Given the description of an element on the screen output the (x, y) to click on. 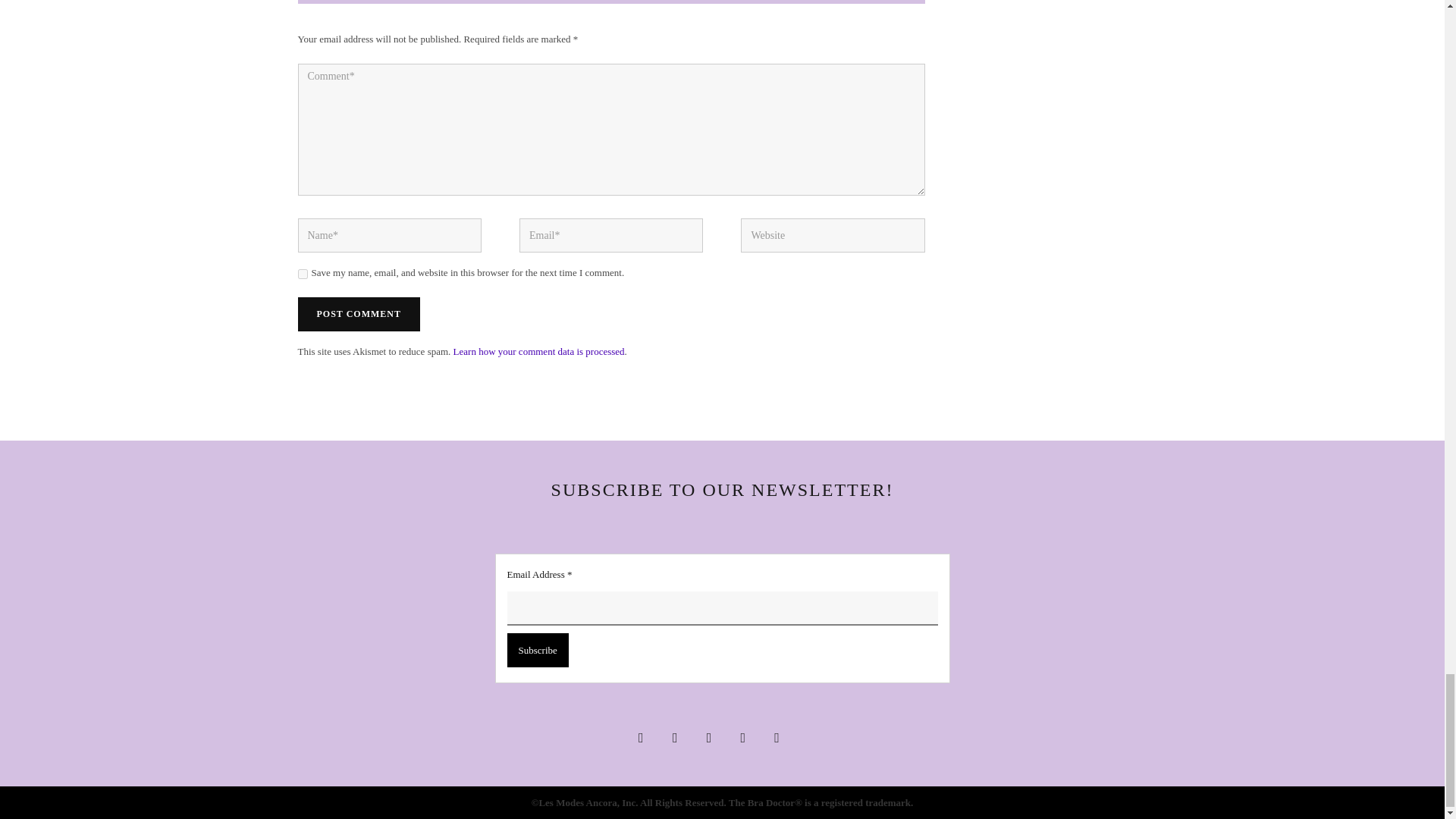
yes (302, 274)
Post Comment (358, 314)
